Given the description of an element on the screen output the (x, y) to click on. 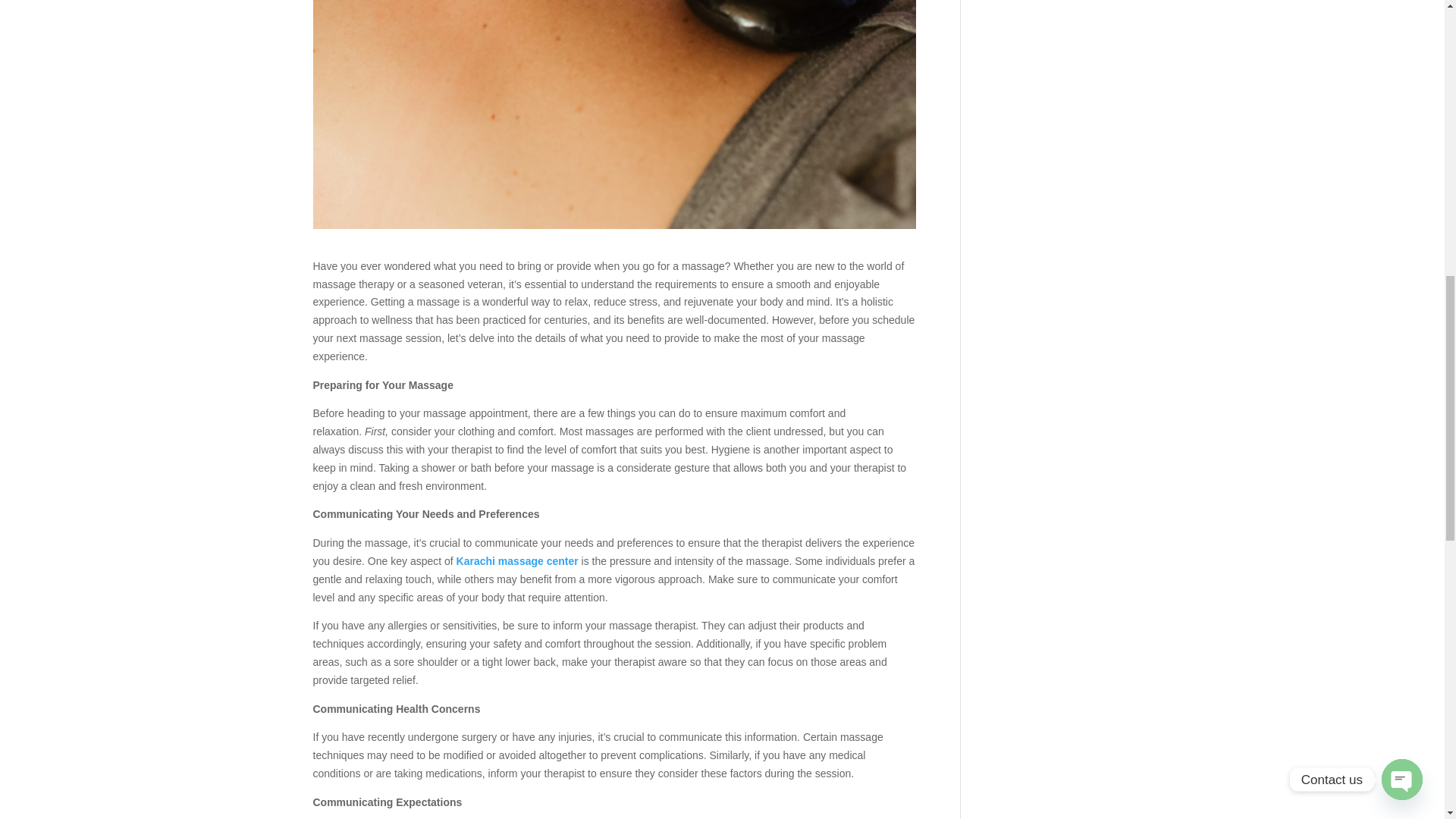
Karachi massage center (517, 561)
